Given the description of an element on the screen output the (x, y) to click on. 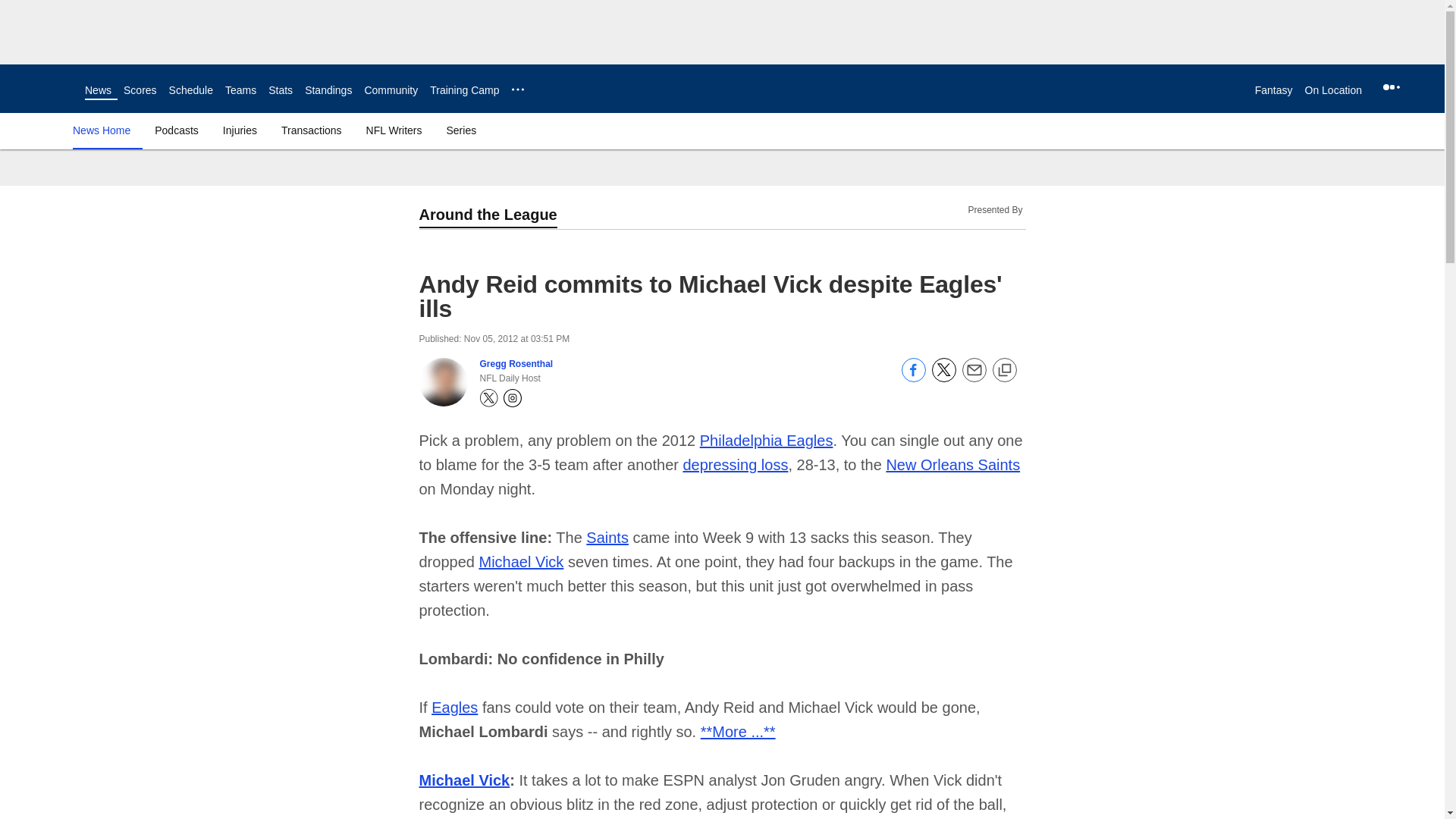
Teams (240, 90)
Stats (279, 90)
Link to NFL homepage (42, 88)
Scores (140, 90)
News (98, 90)
Schedule (190, 90)
Scores (140, 90)
Schedule (190, 90)
Teams (240, 90)
News (98, 90)
